Given the description of an element on the screen output the (x, y) to click on. 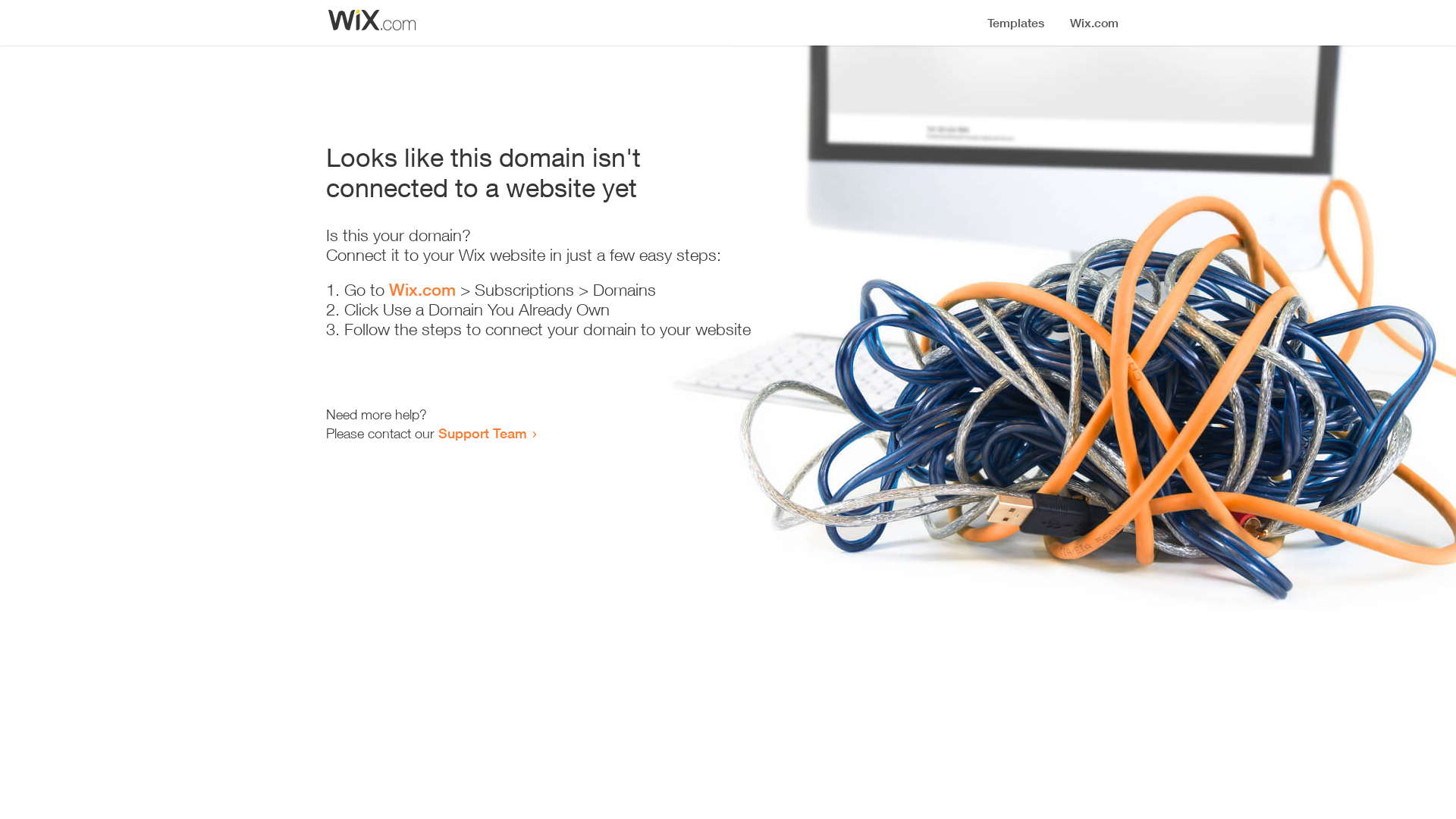
Support Team Element type: text (482, 432)
Wix.com Element type: text (422, 289)
